Given the description of an element on the screen output the (x, y) to click on. 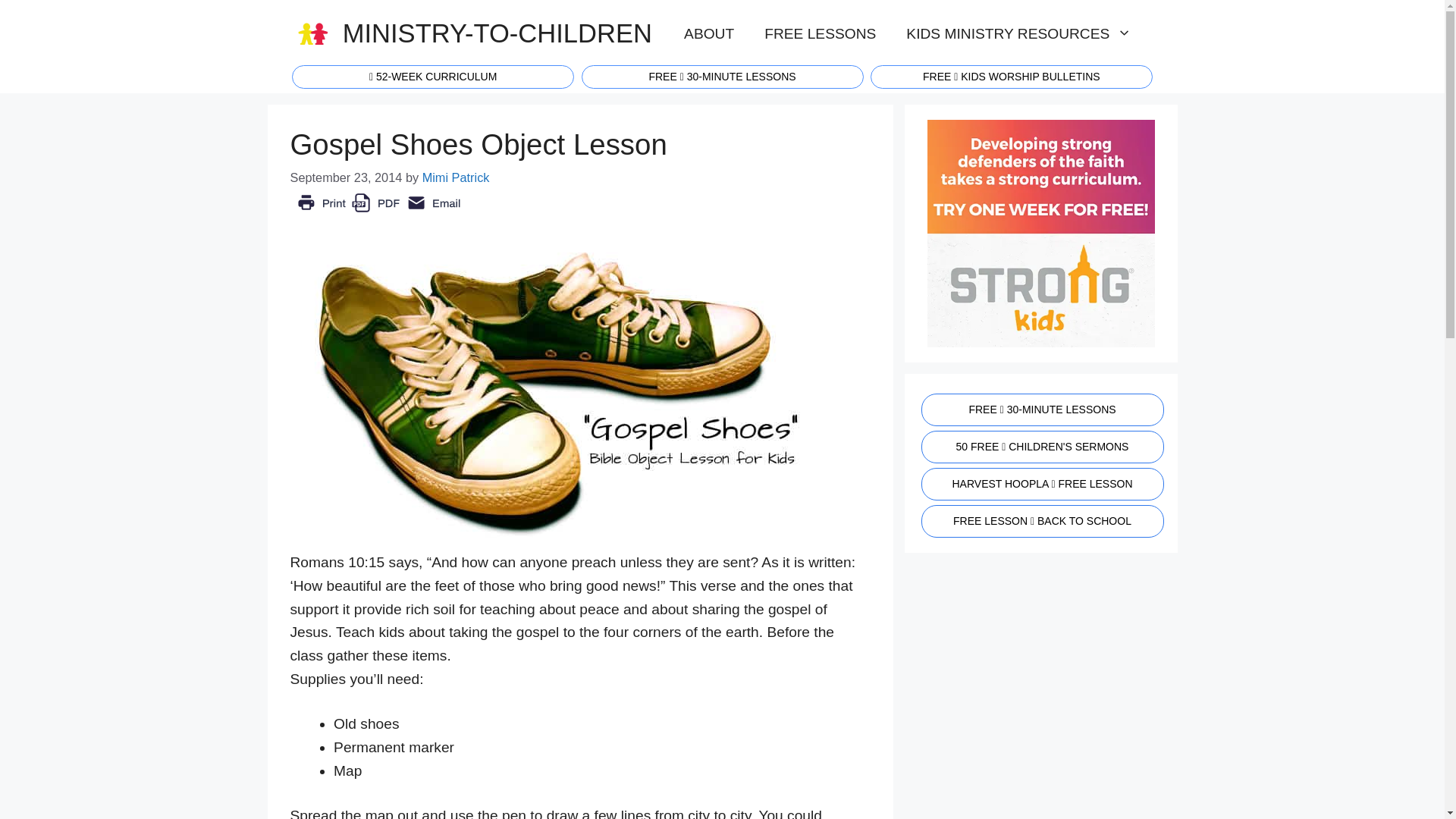
Free Sunday School Lessons PDF (721, 75)
FREE LESSONS (820, 33)
KIDS MINISTRY RESOURCES (1019, 33)
MINISTRY-TO-CHILDREN (497, 32)
52-Week Curriculum (432, 75)
Mimi Patrick (455, 177)
ABOUT (708, 33)
